Given the description of an element on the screen output the (x, y) to click on. 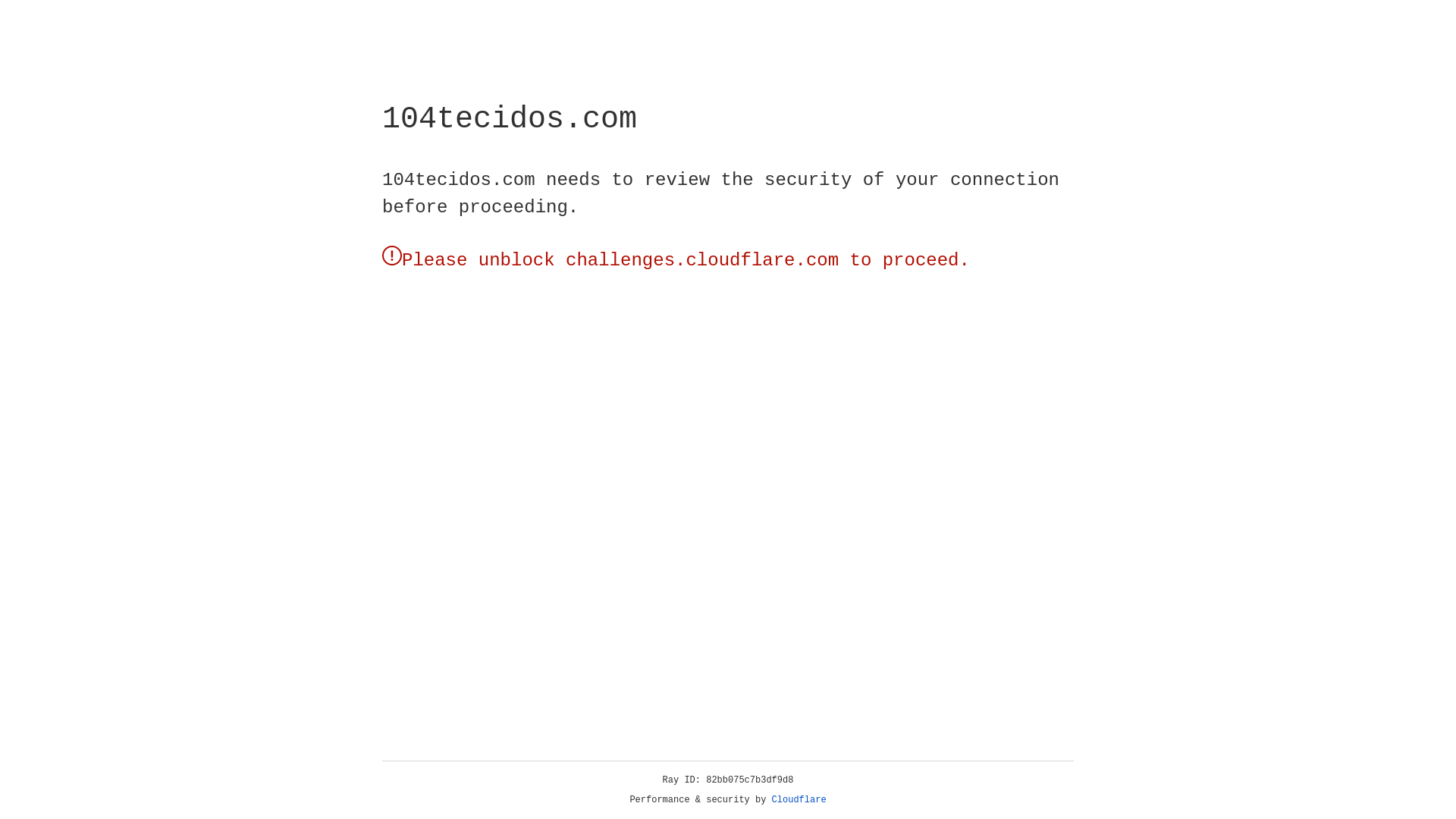
Cloudflare Element type: text (798, 799)
